Given the description of an element on the screen output the (x, y) to click on. 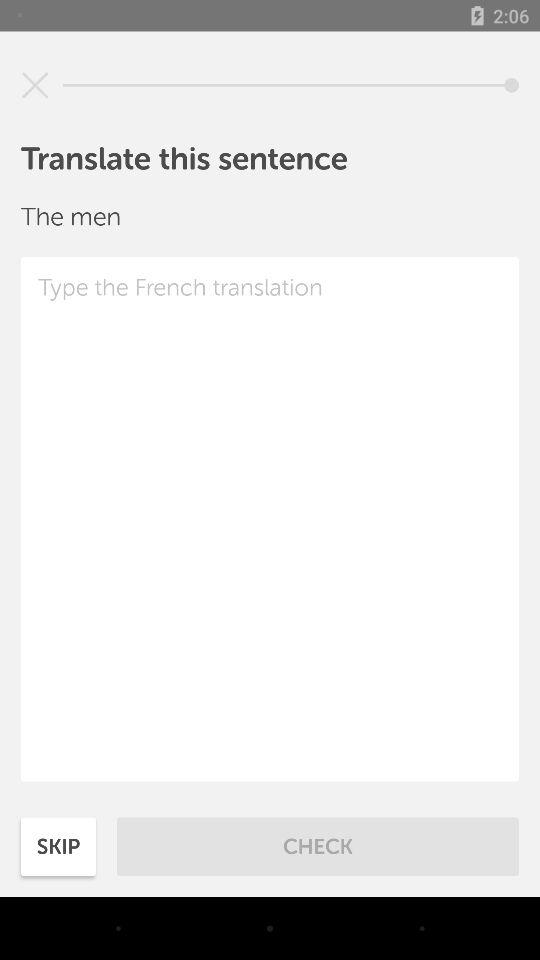
tap icon to the left of the check (58, 846)
